Given the description of an element on the screen output the (x, y) to click on. 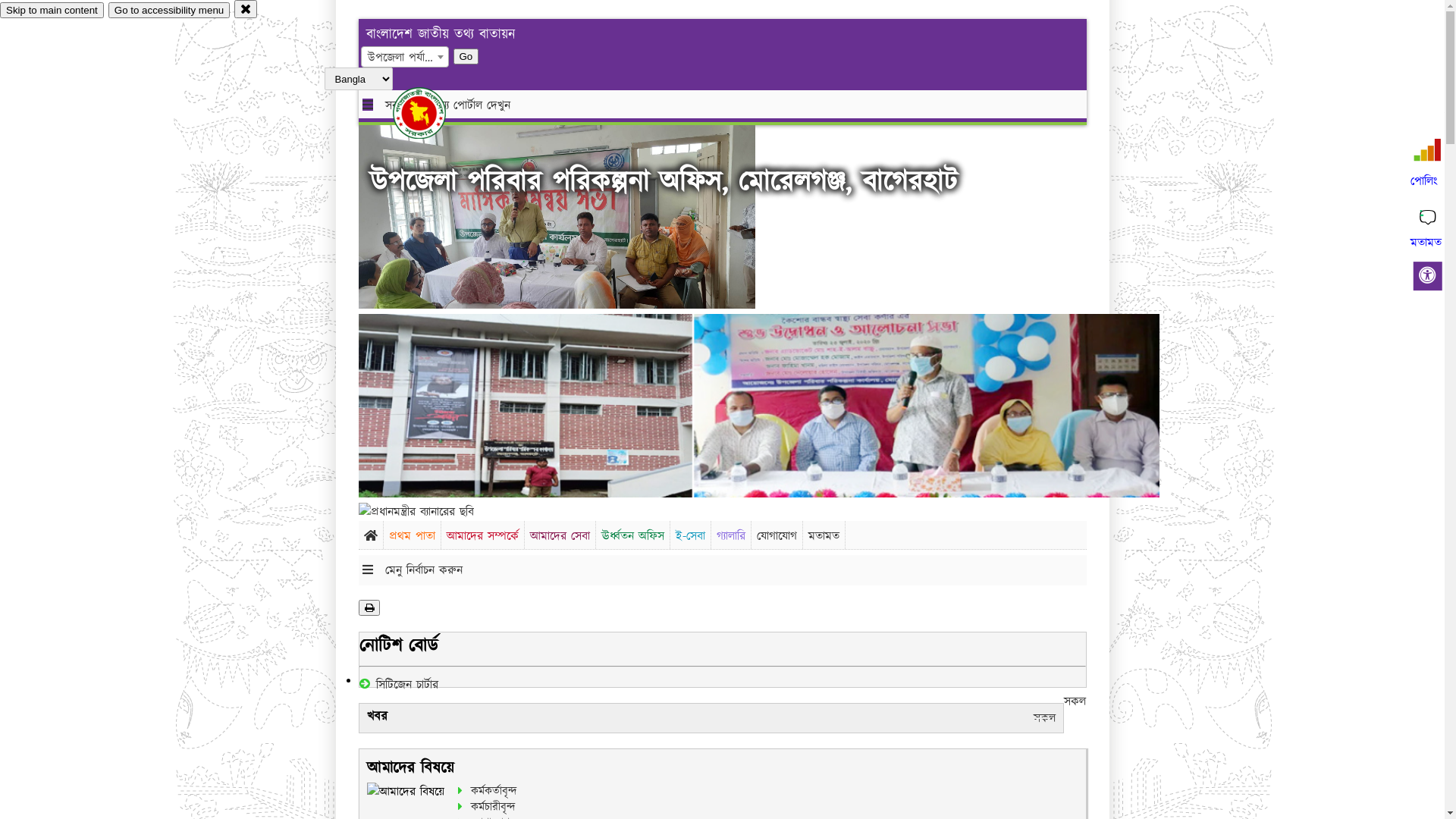
Go Element type: text (466, 56)
close Element type: hover (245, 9)
Go to accessibility menu Element type: text (168, 10)
Skip to main content Element type: text (51, 10)

                
             Element type: hover (431, 112)
